Given the description of an element on the screen output the (x, y) to click on. 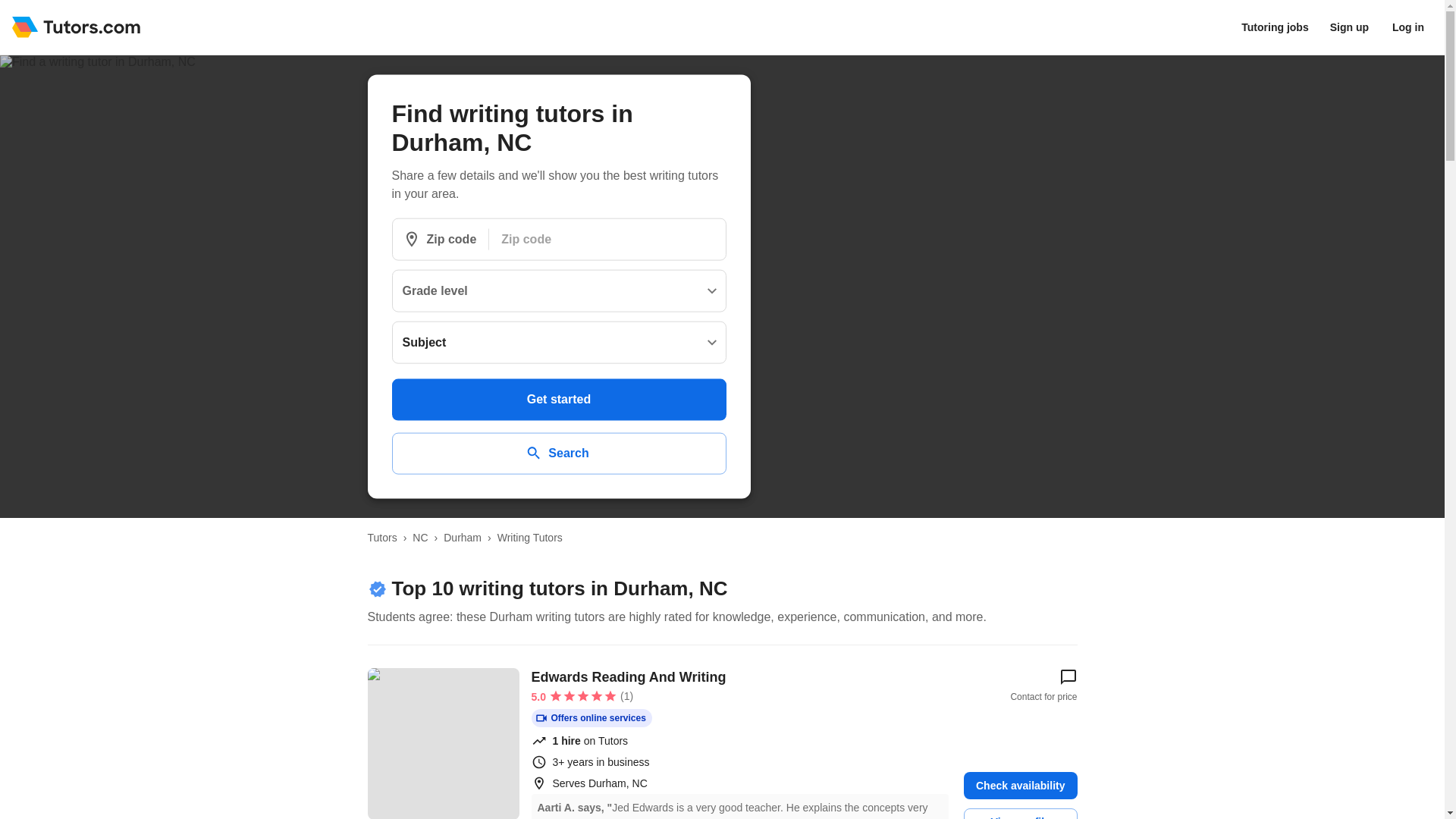
Writing Tutors (529, 537)
Get started (558, 399)
Connect with this tutor via an online session. (590, 718)
Tutoring jobs (1274, 27)
NC (420, 537)
View profile (1020, 813)
Check availability (1020, 786)
Log in (1408, 27)
Edwards Reading And Writing (442, 743)
Durham (462, 537)
